Given the description of an element on the screen output the (x, y) to click on. 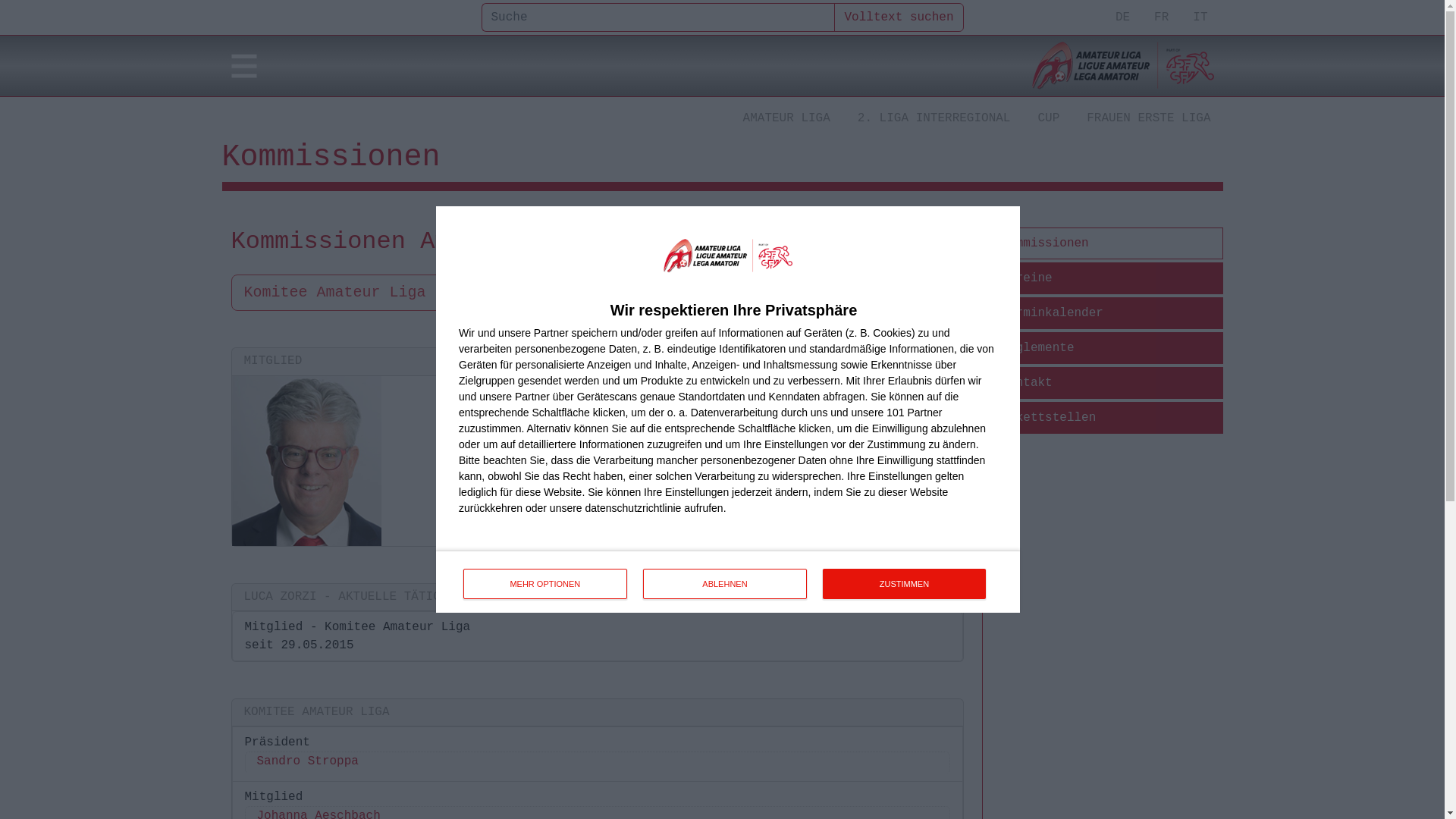
Vereine Element type: text (1108, 278)
FR Element type: text (1161, 17)
Pikettstellen Element type: text (1108, 417)
IT Element type: text (1199, 17)
Kontakt Element type: text (1108, 382)
Reglemente Element type: text (1108, 348)
MEHR OPTIONEN Element type: text (544, 583)
AMATEUR LIGA Element type: text (786, 118)
FRAUEN ERSTE LIGA Element type: text (1148, 118)
ZUSTIMMEN Element type: text (903, 583)
AL / LA Element type: hover (1122, 65)
Komitee Amateur Liga Element type: text (345, 292)
DE Element type: text (1122, 17)
ABLEHNEN Element type: text (725, 583)
Terminkalender Element type: text (1108, 313)
Kommissionen Element type: text (1108, 243)
2. LIGA INTERREGIONAL Element type: text (933, 118)
Sandro Stroppa Element type: text (596, 762)
CUP Element type: text (1048, 118)
Volltext suchen Element type: text (898, 17)
